Given the description of an element on the screen output the (x, y) to click on. 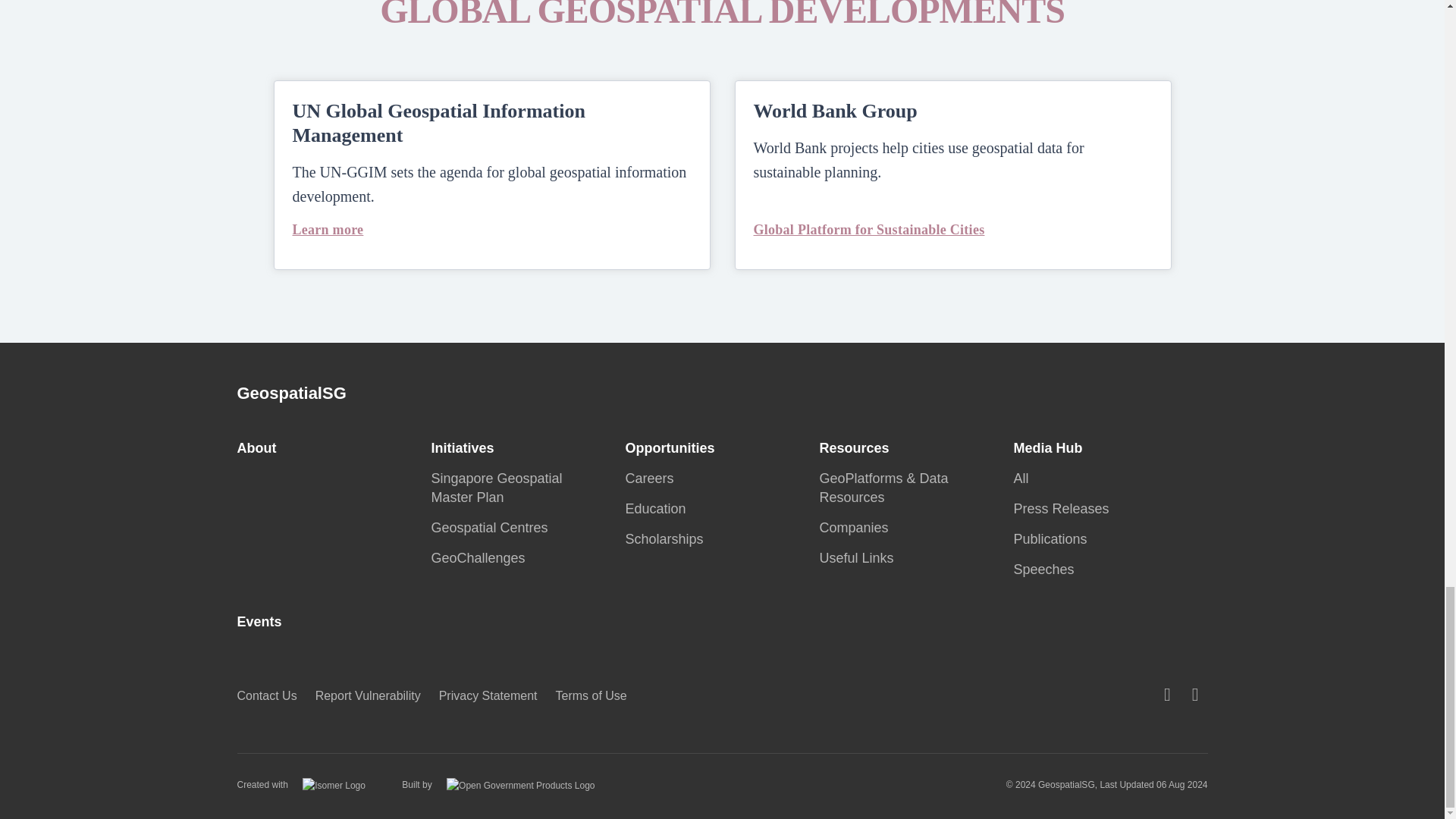
Opportunities (673, 447)
Geospatial Centres (493, 527)
Scholarships (667, 539)
GeoChallenges (482, 557)
About (260, 447)
Education (659, 508)
Singapore Geospatial Master Plan (496, 487)
Initiatives (466, 447)
